Given the description of an element on the screen output the (x, y) to click on. 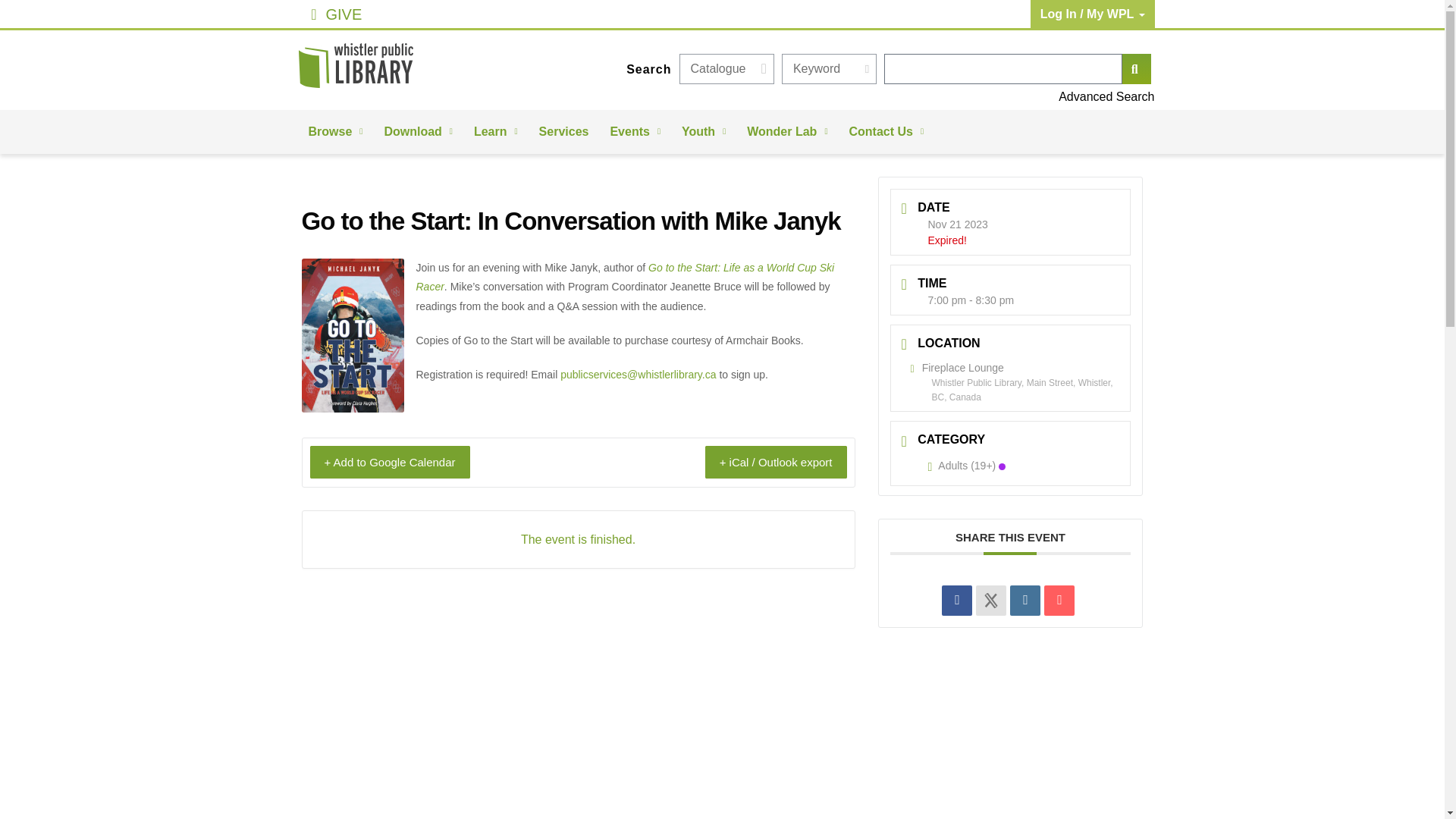
GIVE (422, 14)
Learn (495, 131)
Browse (334, 131)
Email (1058, 600)
X Social Network (990, 600)
Download (417, 131)
Share on Facebook (957, 600)
Linkedin (1025, 600)
Advanced Search (916, 96)
